Given the description of an element on the screen output the (x, y) to click on. 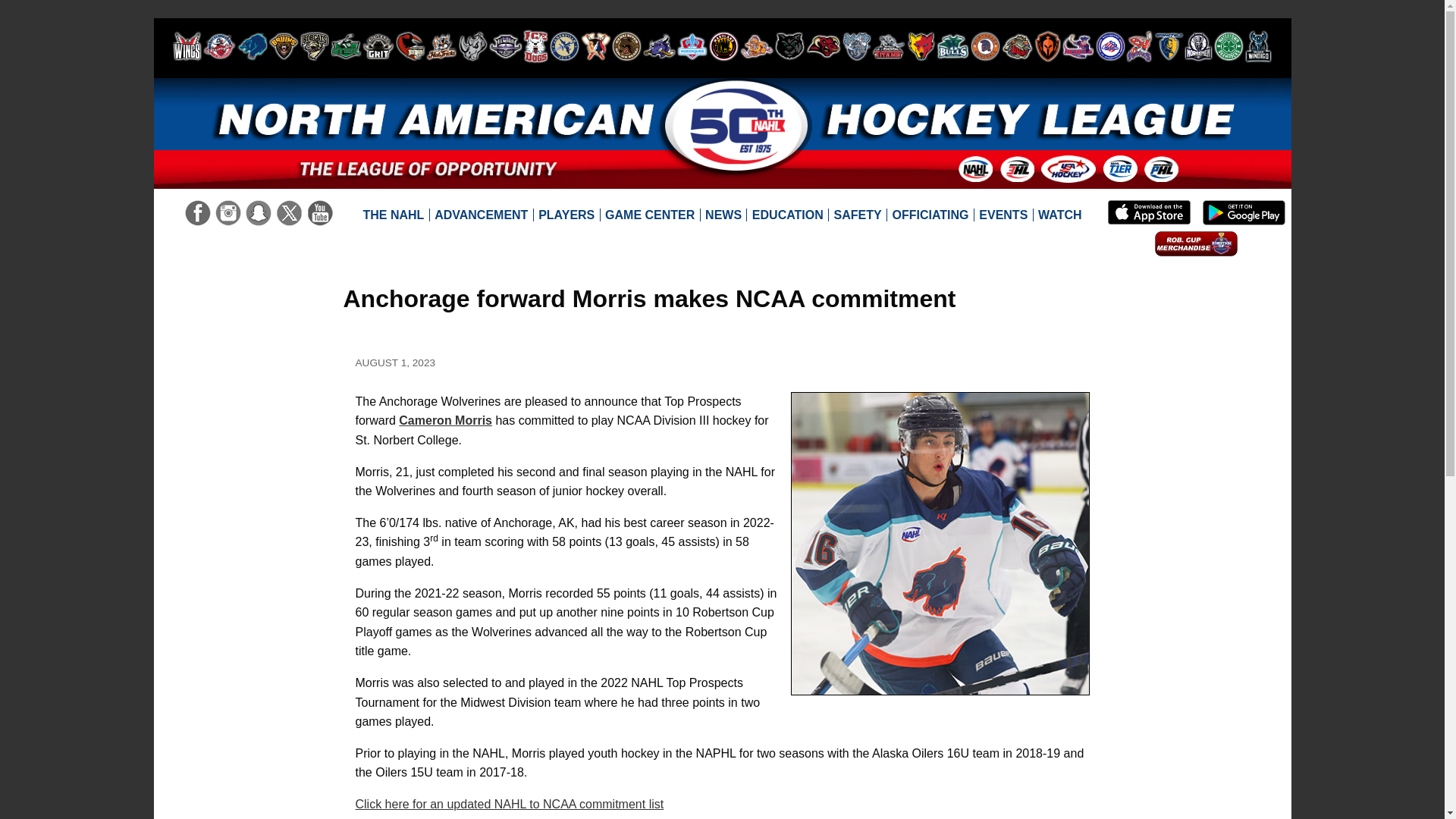
Fairbanks Ice Dogs (535, 45)
Aberdeen Wings (187, 45)
Johnstown Tomahawks (595, 45)
Maryland Black Bears (723, 45)
Danbury Jr. Hat Tricks (441, 45)
Bismarck Bobcats (314, 45)
El Paso Rhinos (472, 45)
Corpus Christi IceRays (410, 45)
Anchorage Wolverines (252, 45)
Austin Bruins (282, 45)
Kenai River Brown Bears (626, 45)
Elmira Aviators (505, 45)
Maine Nordiques (692, 45)
Chippewa Steel (345, 45)
Janesville Jets (564, 45)
